Given the description of an element on the screen output the (x, y) to click on. 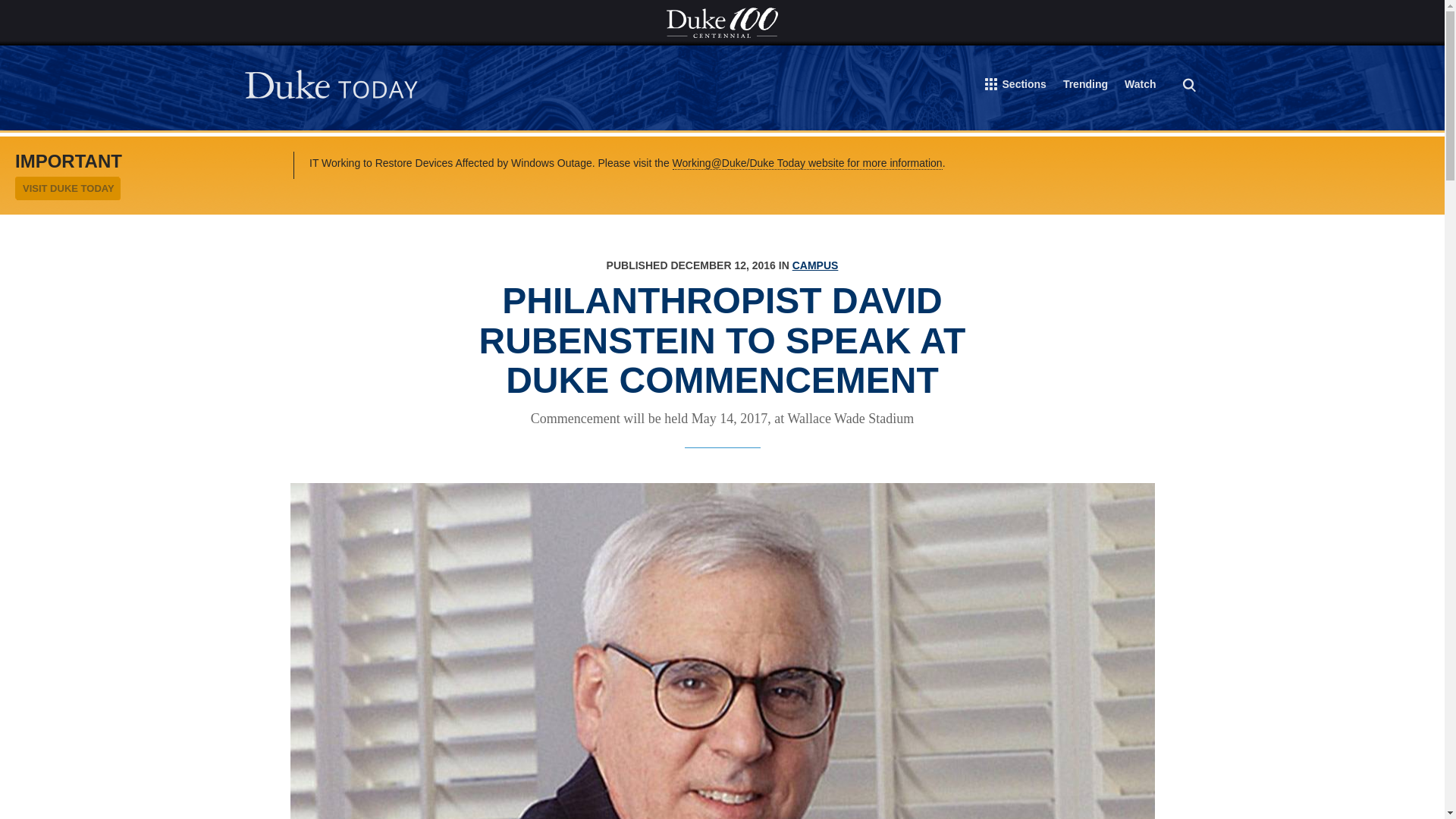
Trending (1085, 86)
Sections (1015, 87)
Watch (1140, 86)
